Given the description of an element on the screen output the (x, y) to click on. 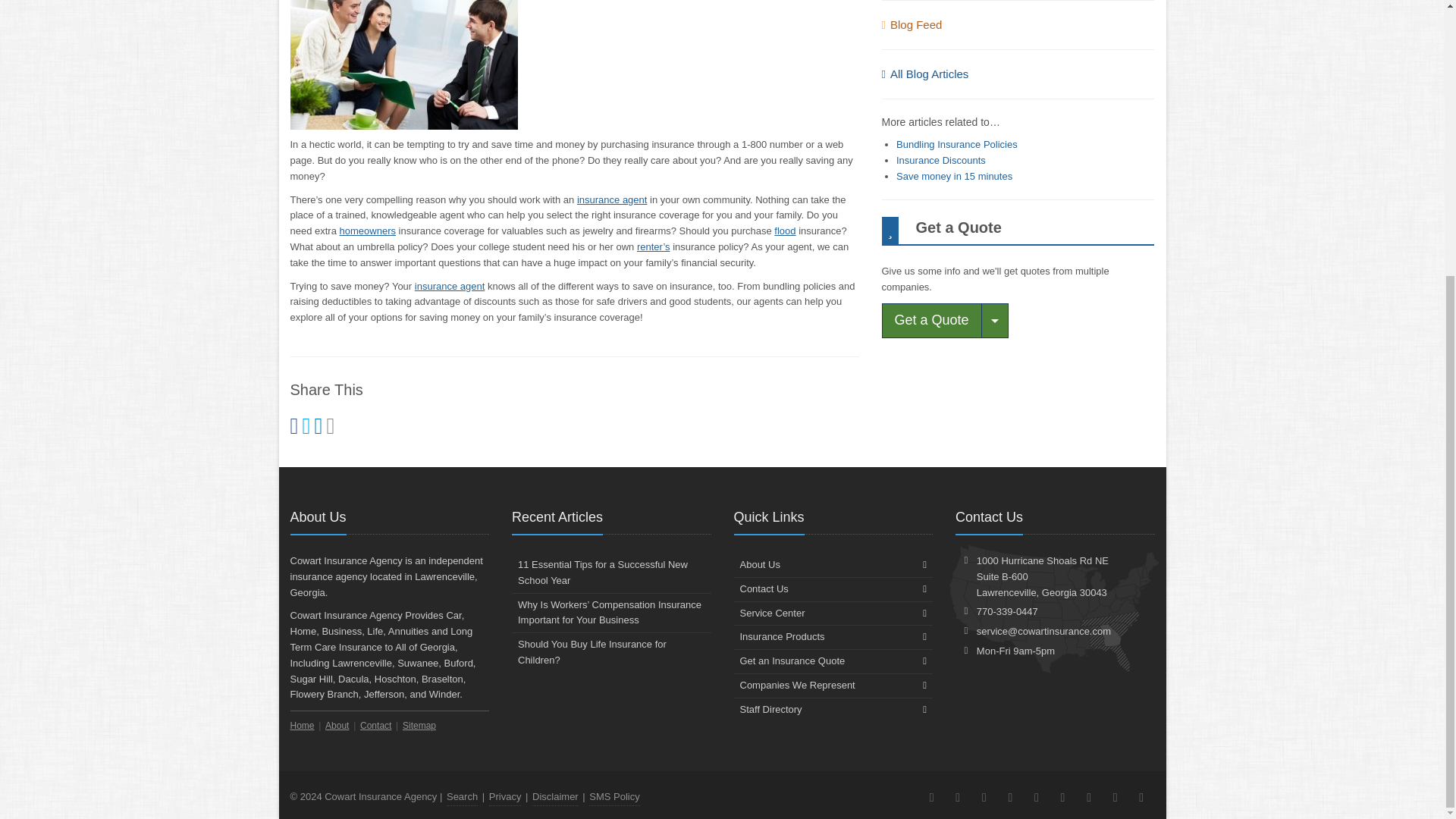
More Information on Flood Insurance (784, 230)
What is the value of an Independent Insurance Agent? (449, 285)
Additional Home Insurance Information (367, 230)
More about the Agents at Cowart Insurance (611, 199)
More Information on Renters Insurance (653, 246)
